Given the description of an element on the screen output the (x, y) to click on. 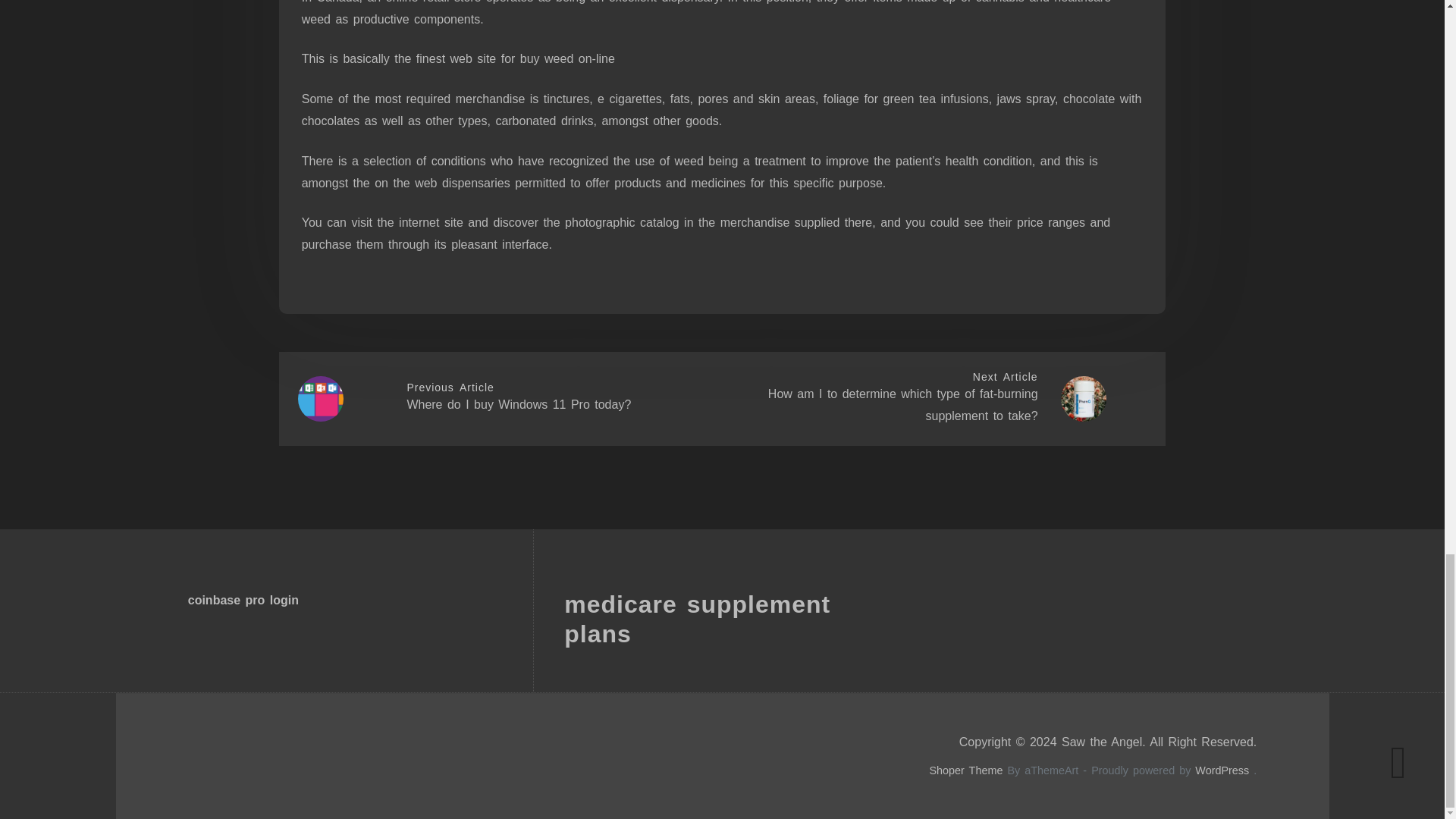
medicare supplement plans (696, 618)
coinbase pro login (242, 599)
Where do I buy Windows 11 Pro today? (518, 404)
WordPress (1222, 770)
Shoper Theme (965, 770)
